Given the description of an element on the screen output the (x, y) to click on. 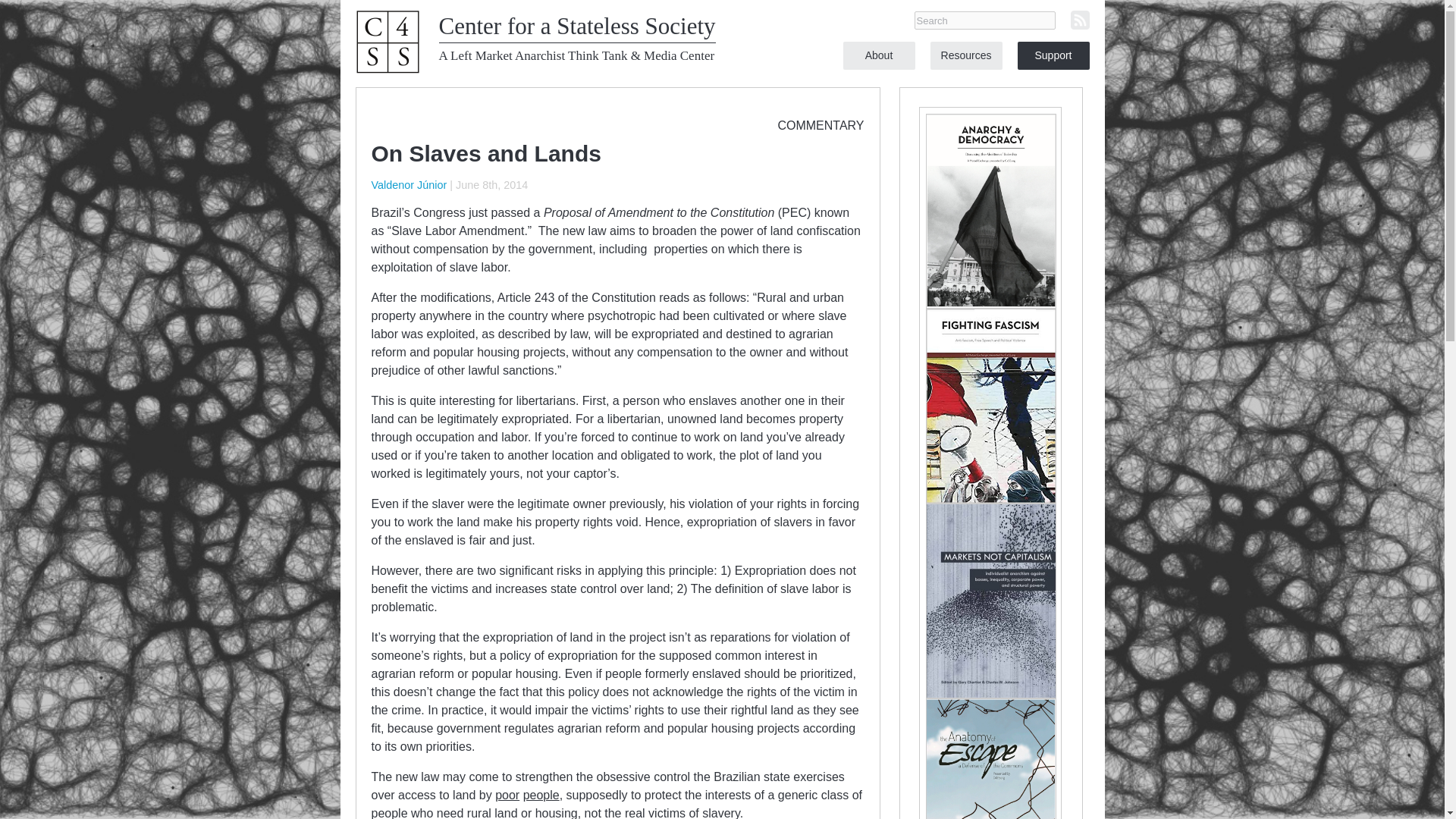
Search (984, 20)
people (540, 794)
Search (984, 20)
poor (507, 794)
COMMENTARY (820, 124)
